Given the description of an element on the screen output the (x, y) to click on. 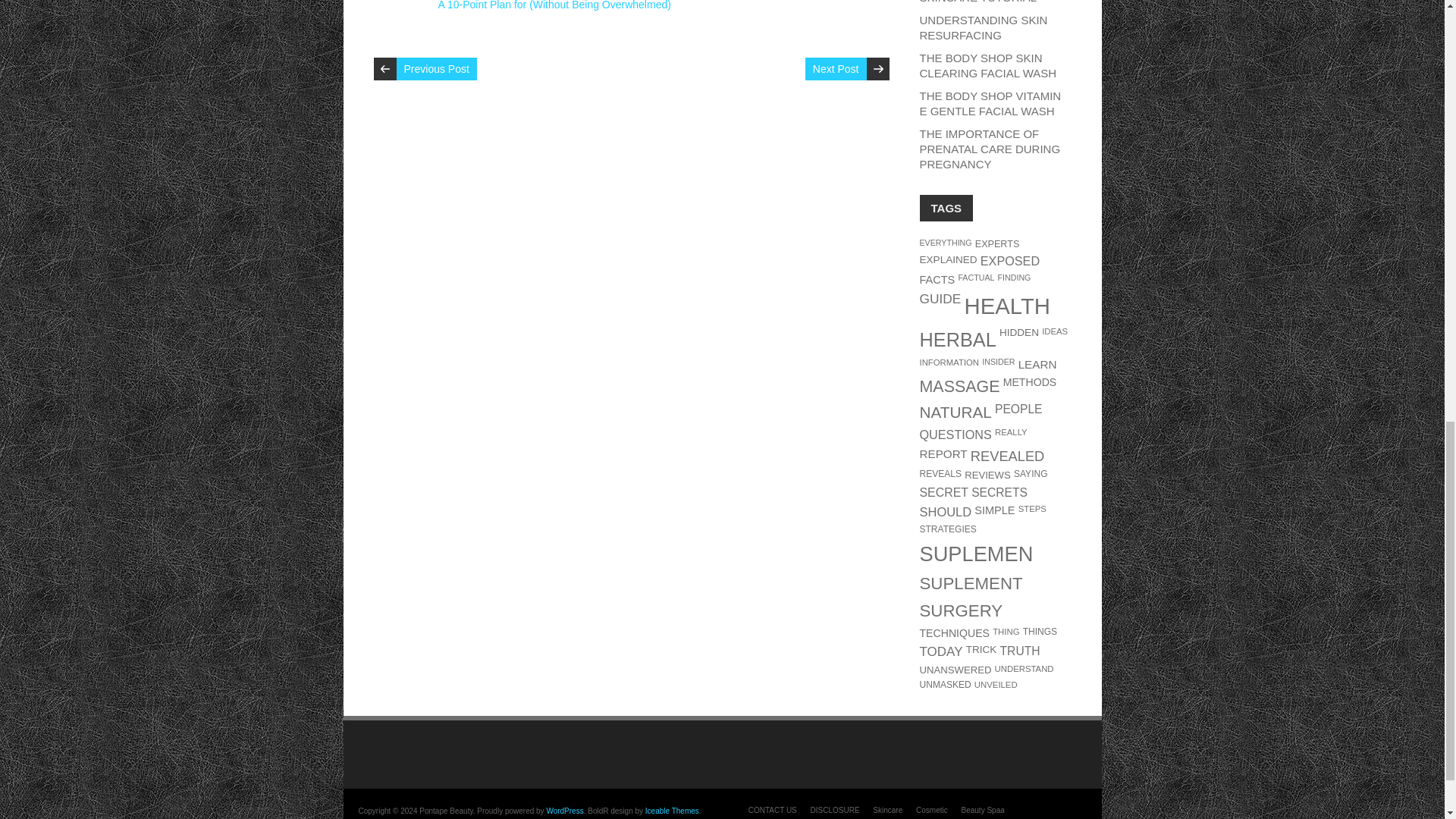
EVERYTHING (944, 242)
Free and Premium WordPress Themes (671, 810)
THE IMPORTANCE OF PRENATAL CARE DURING PREGNANCY (988, 148)
EXPERTS (997, 244)
REVITALIZE YOUR ROUTINE: REFRESHING SKINCARE TUTORIAL (984, 2)
THE BODY SHOP VITAMIN E GENTLE FACIAL WASH (989, 103)
Next Post (835, 68)
EXPLAINED (947, 259)
EXPOSED (1009, 260)
THE BODY SHOP SKIN CLEARING FACIAL WASH (987, 65)
Semantic Personal Publishing Platform (564, 810)
Previous Post (436, 68)
UNDERSTANDING SKIN RESURFACING (982, 27)
